Given the description of an element on the screen output the (x, y) to click on. 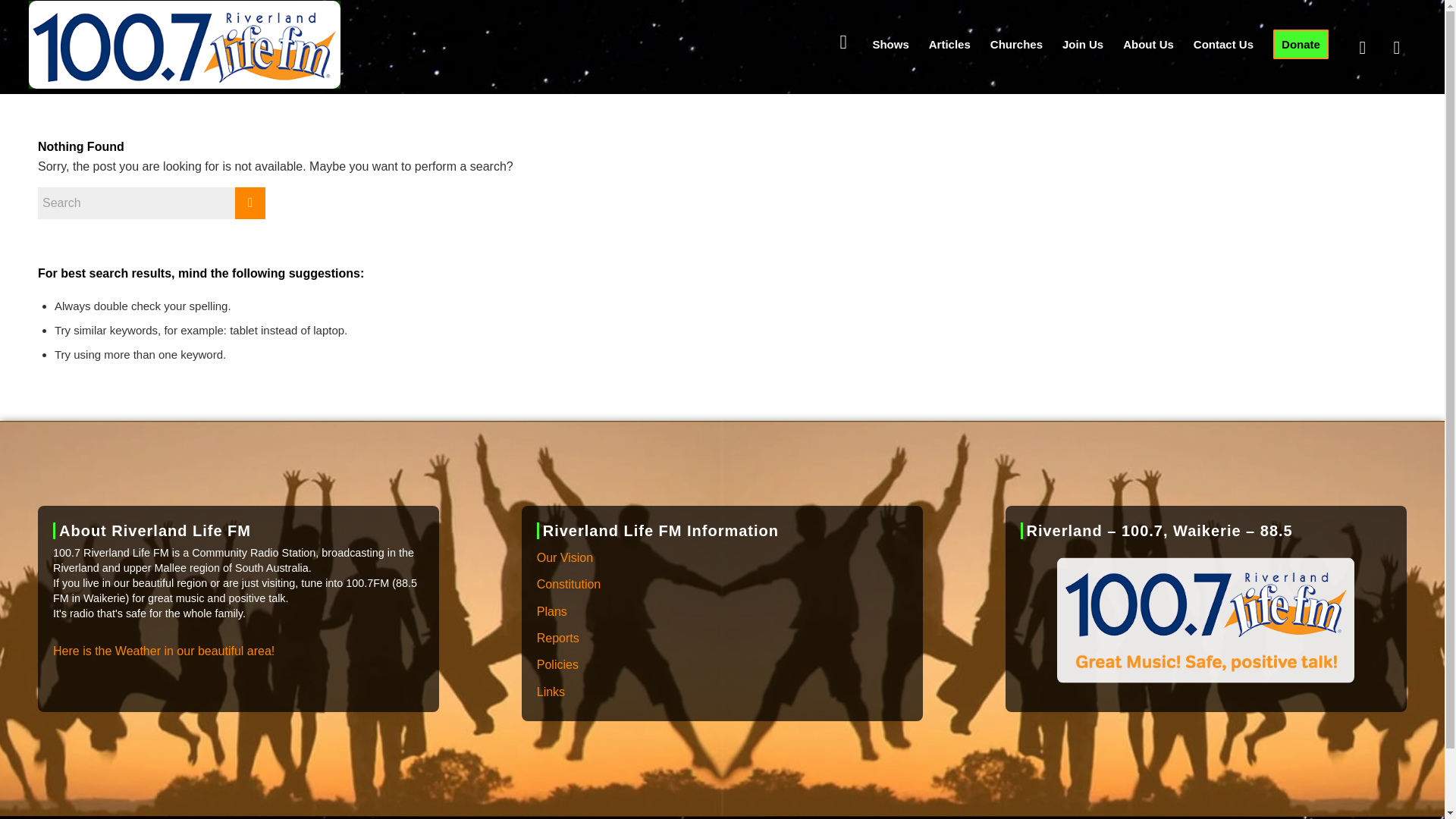
Facebook (1362, 47)
Our Vision (722, 558)
Here is the Weather in our beautiful area! (163, 650)
Constitution (722, 584)
Plans (722, 611)
Instagram (1396, 47)
Contact Us (1223, 44)
